Given the description of an element on the screen output the (x, y) to click on. 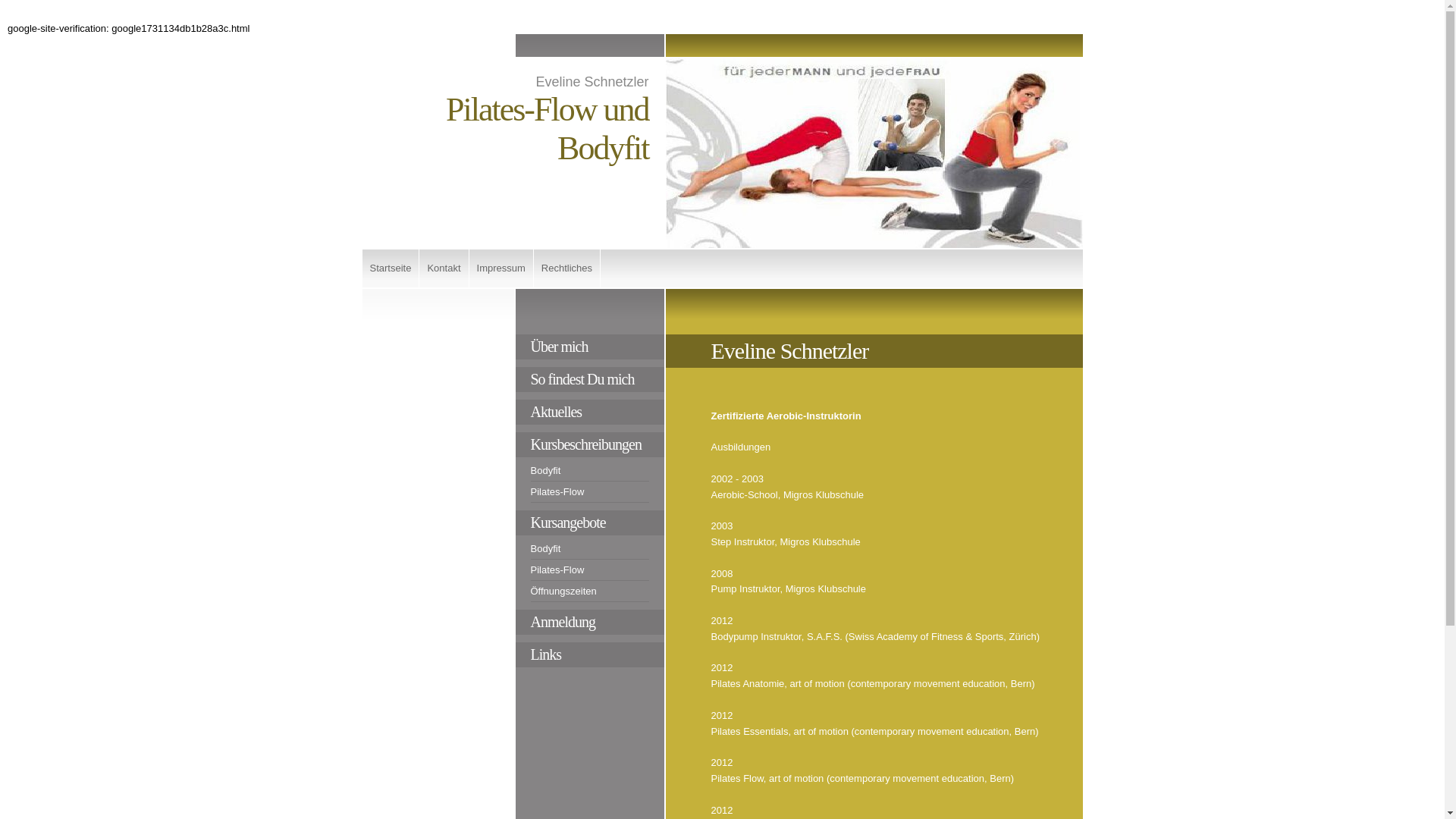
Anmeldung Element type: text (589, 621)
Startseite Element type: text (391, 268)
Pilates-Flow Element type: text (589, 572)
Kontakt Element type: text (443, 268)
So findest Du mich Element type: text (589, 379)
Pilates-Flow Element type: text (589, 494)
Links Element type: text (589, 654)
Impressum Element type: text (501, 268)
Bodyfit Element type: text (589, 550)
Aktuelles Element type: text (589, 411)
Bodyfit Element type: text (589, 472)
Kursbeschreibungen Element type: text (589, 444)
Rechtliches Element type: text (566, 268)
Kursangebote Element type: text (589, 522)
